Given the description of an element on the screen output the (x, y) to click on. 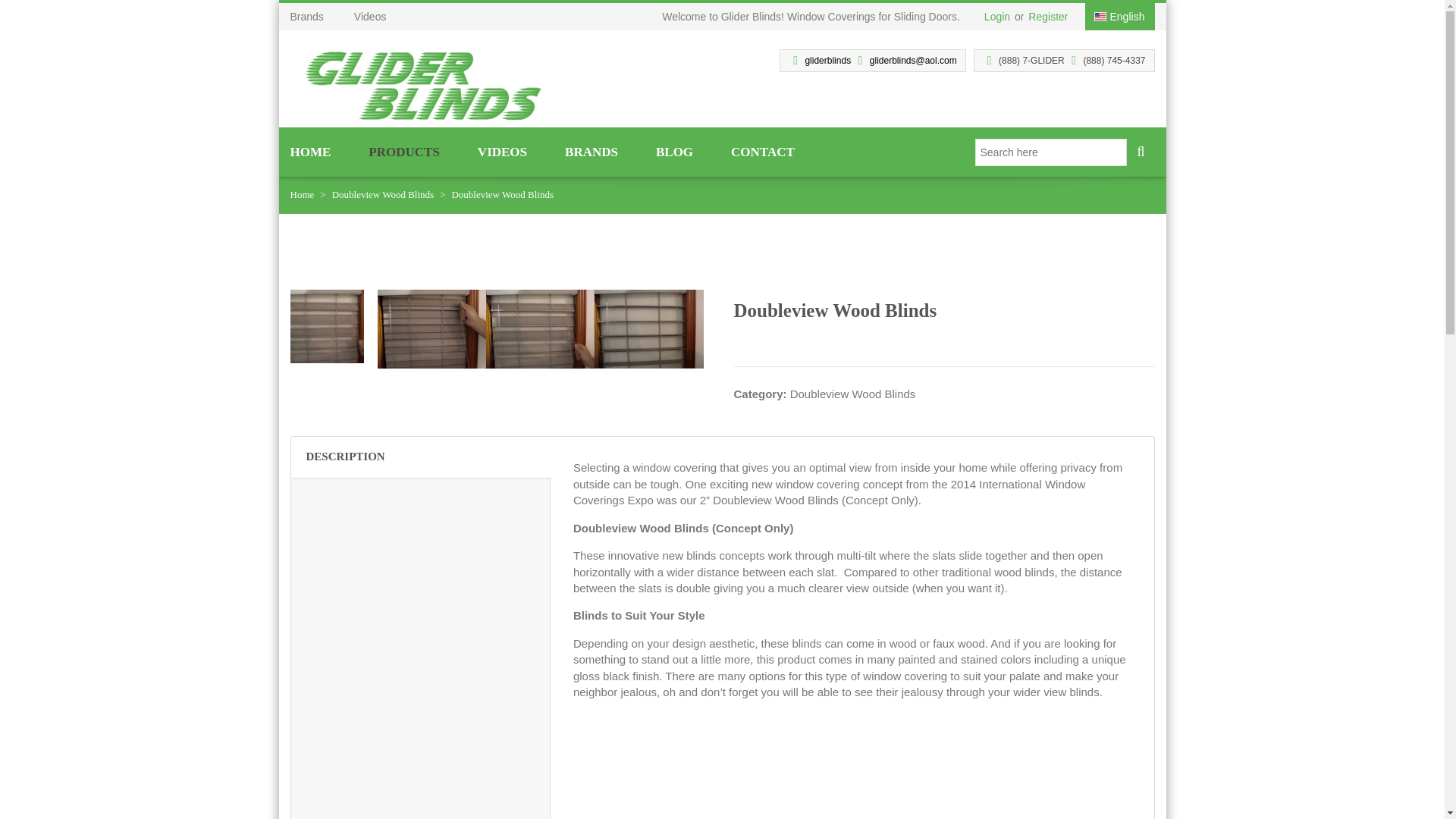
Double-view-wood-blinds (325, 324)
Double-view-wood-blinds (540, 329)
Search (1140, 152)
CONTACT (771, 154)
Videos (384, 16)
Login (996, 16)
HOME (328, 154)
Brands (321, 16)
BLOG (693, 154)
Brands (321, 16)
